Given the description of an element on the screen output the (x, y) to click on. 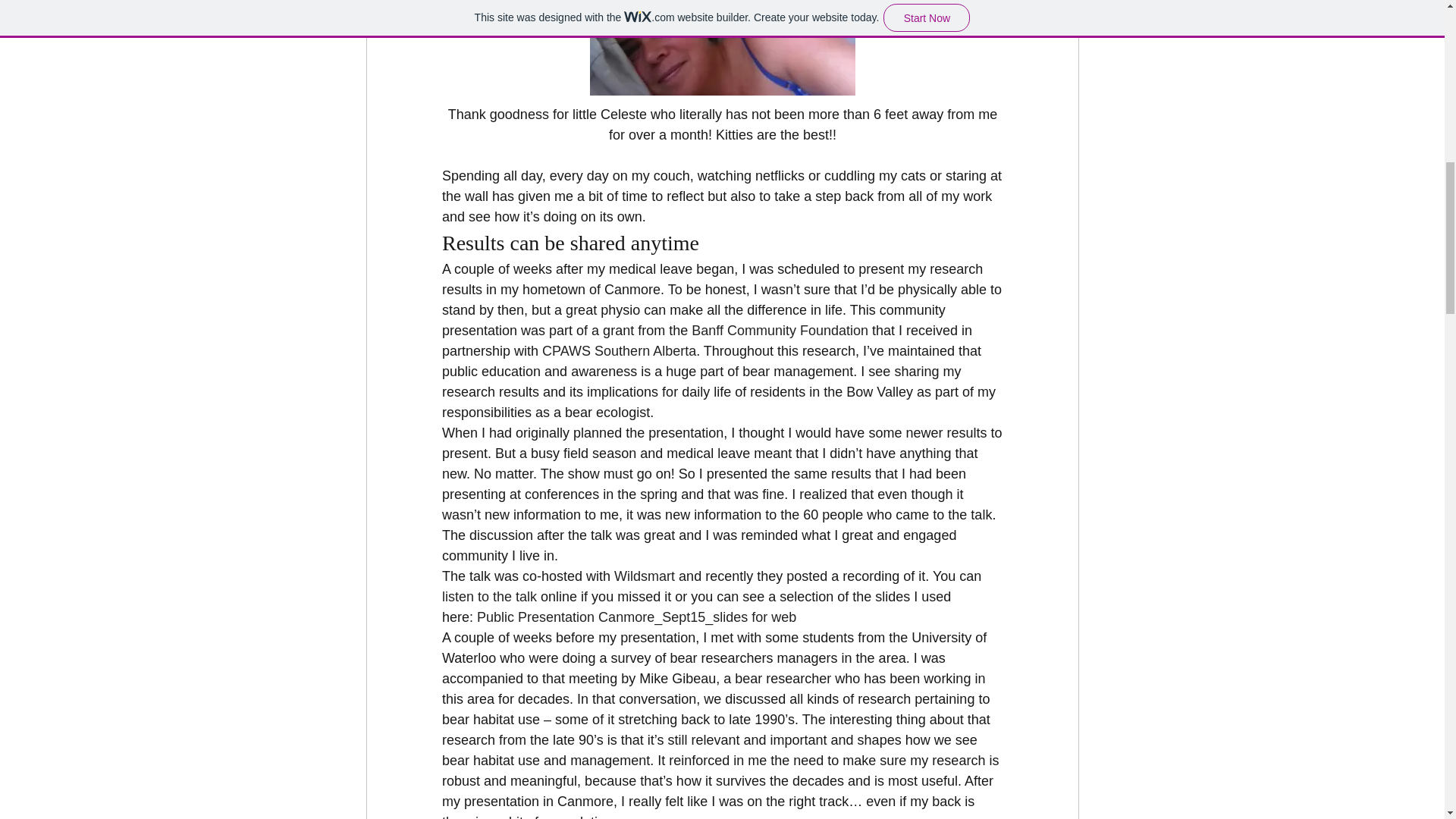
CPAWS Southern Alberta (618, 350)
Wildsmart (644, 575)
Banff Community Foundation (779, 330)
listen to the talk (488, 596)
